Given the description of an element on the screen output the (x, y) to click on. 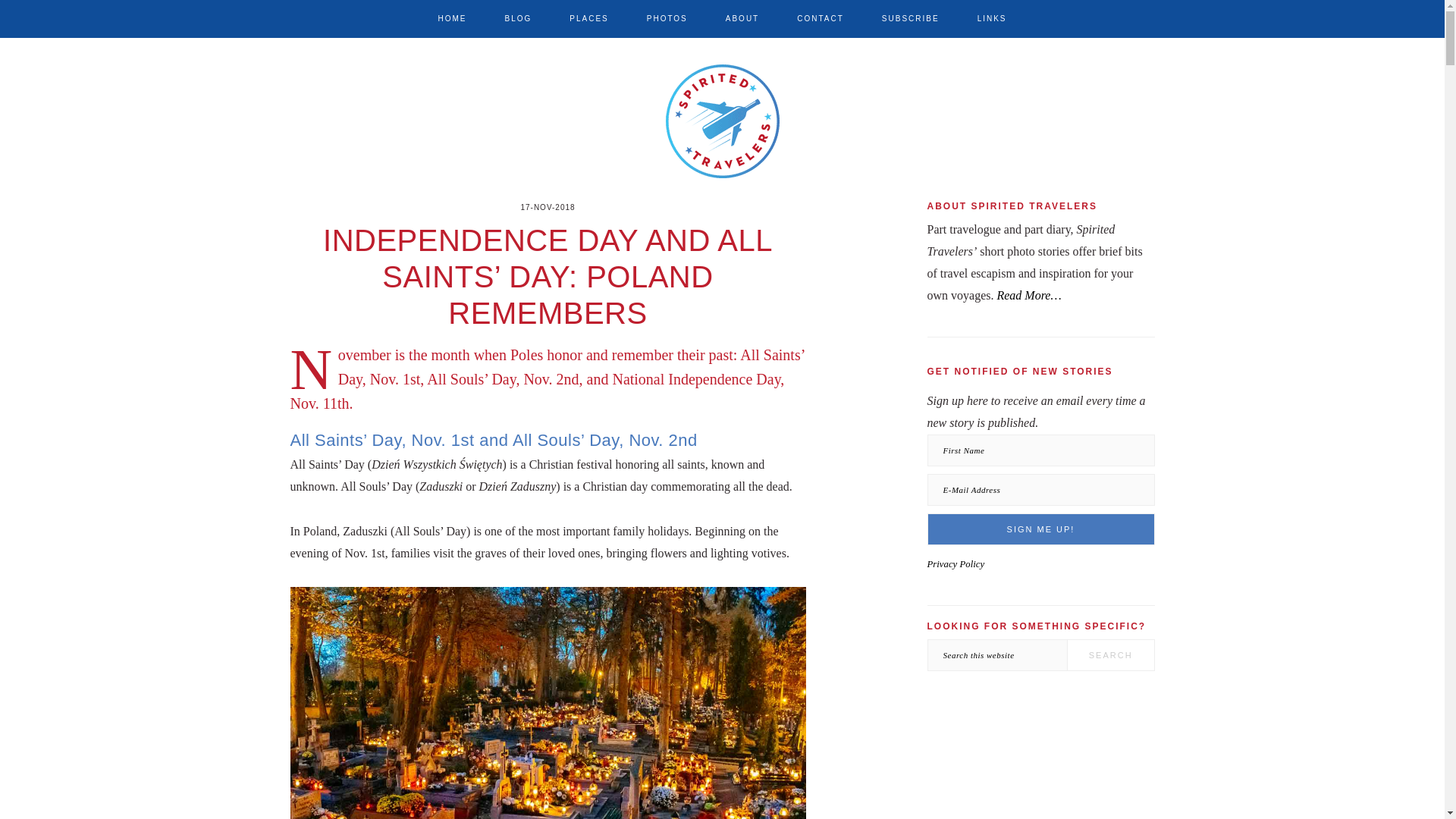
Sign me up! (1040, 529)
HOME (451, 18)
CONTACT (820, 18)
SUBSCRIBE (910, 18)
PLACES (588, 18)
Spirited Travelers (721, 180)
Search (1110, 654)
PHOTOS (666, 18)
Search (1110, 654)
LINKS (992, 18)
Privacy Policy (955, 563)
ABOUT (741, 18)
Sign me up! (1040, 529)
BLOG (517, 18)
